Given the description of an element on the screen output the (x, y) to click on. 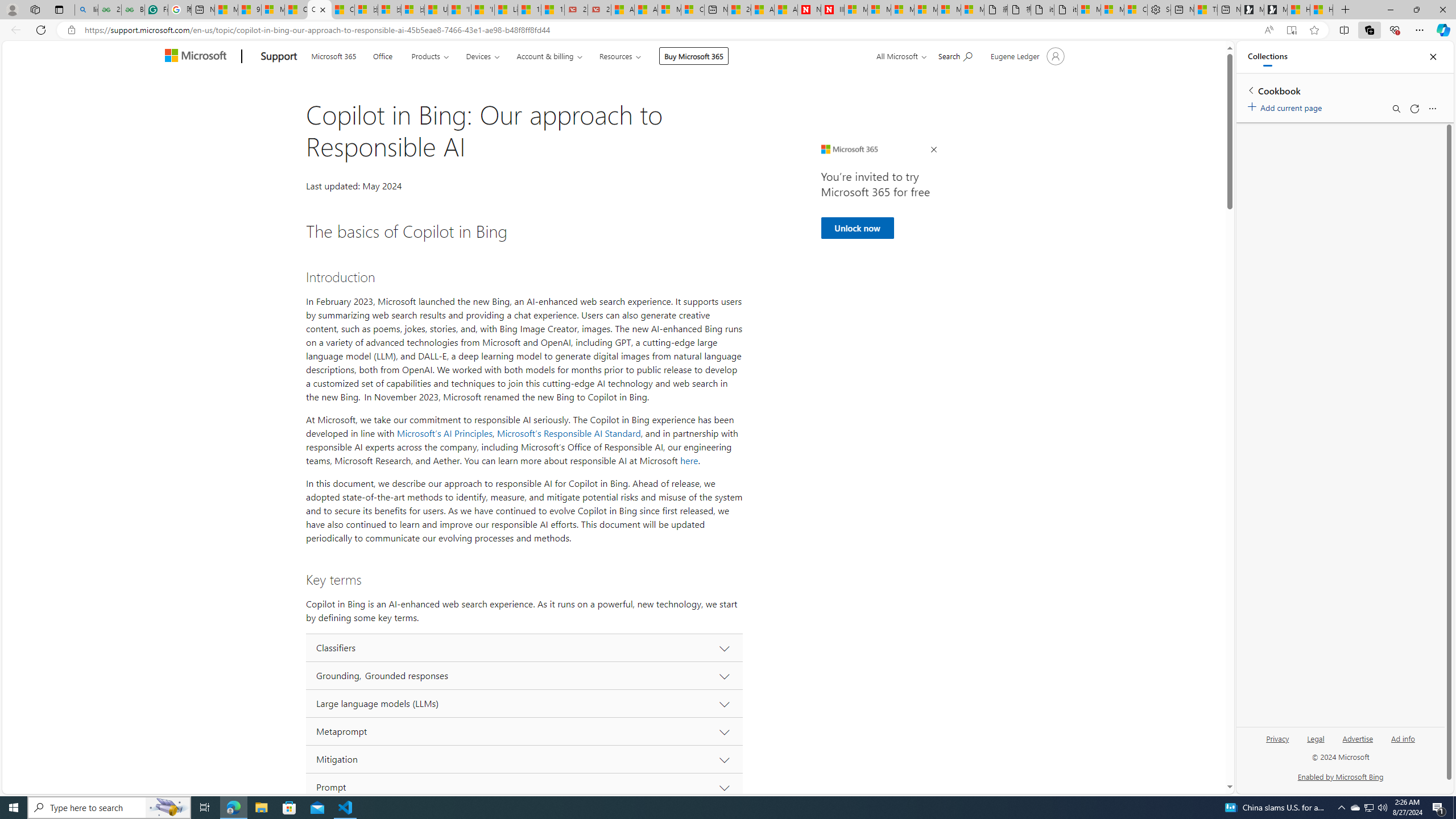
Three Ways To Stop Sweating So Much (1205, 9)
Buy Microsoft 365 (693, 55)
More options menu (1432, 108)
itconcepthk.com/projector_solutions.mp4 (1065, 9)
here (688, 460)
